Given the description of an element on the screen output the (x, y) to click on. 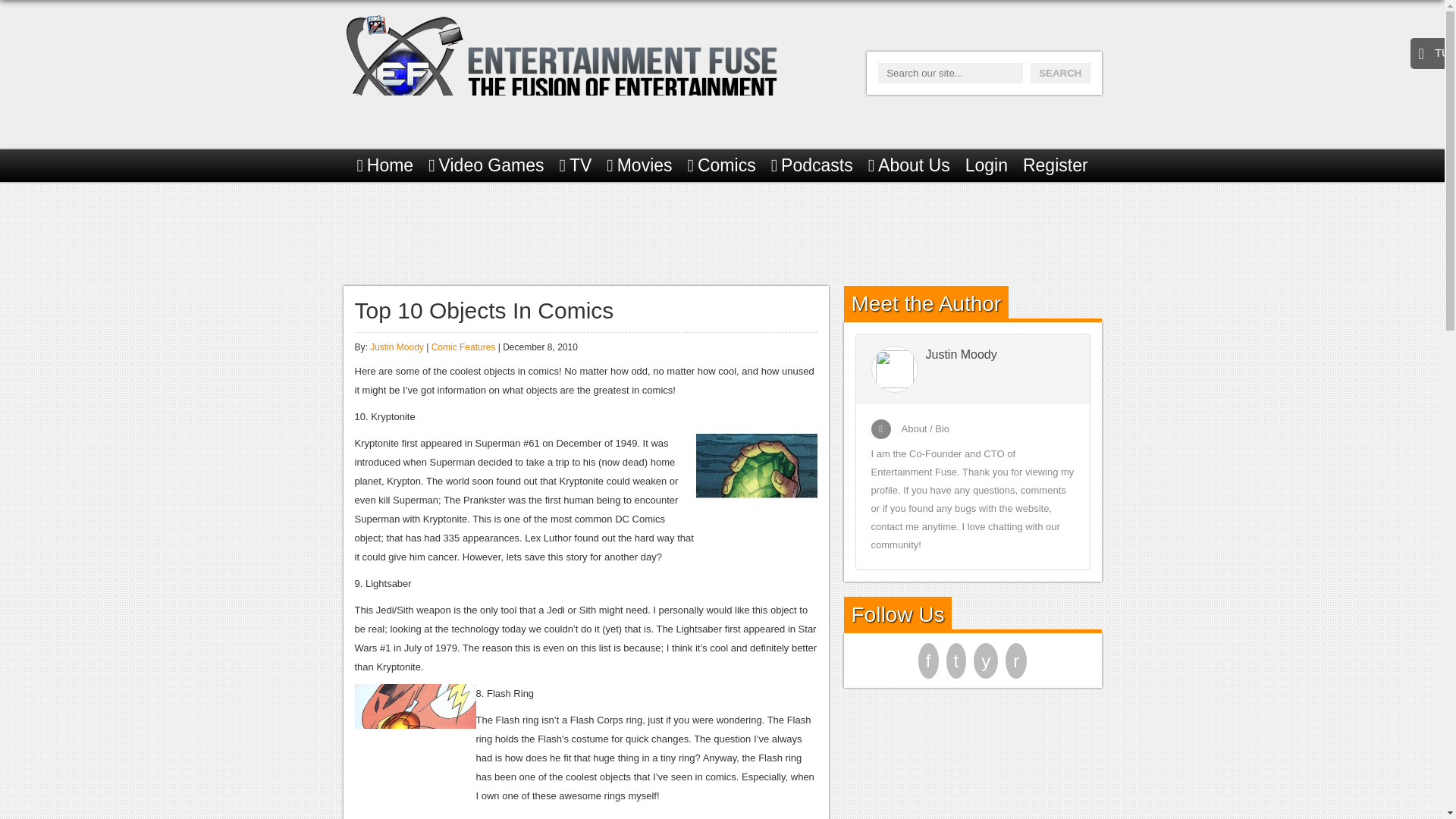
Movies (639, 165)
Comics (721, 165)
TV (575, 165)
Posts by Justin Moody (396, 347)
Search (1059, 73)
Search (1059, 73)
Home (384, 165)
Video Games (485, 165)
